Given the description of an element on the screen output the (x, y) to click on. 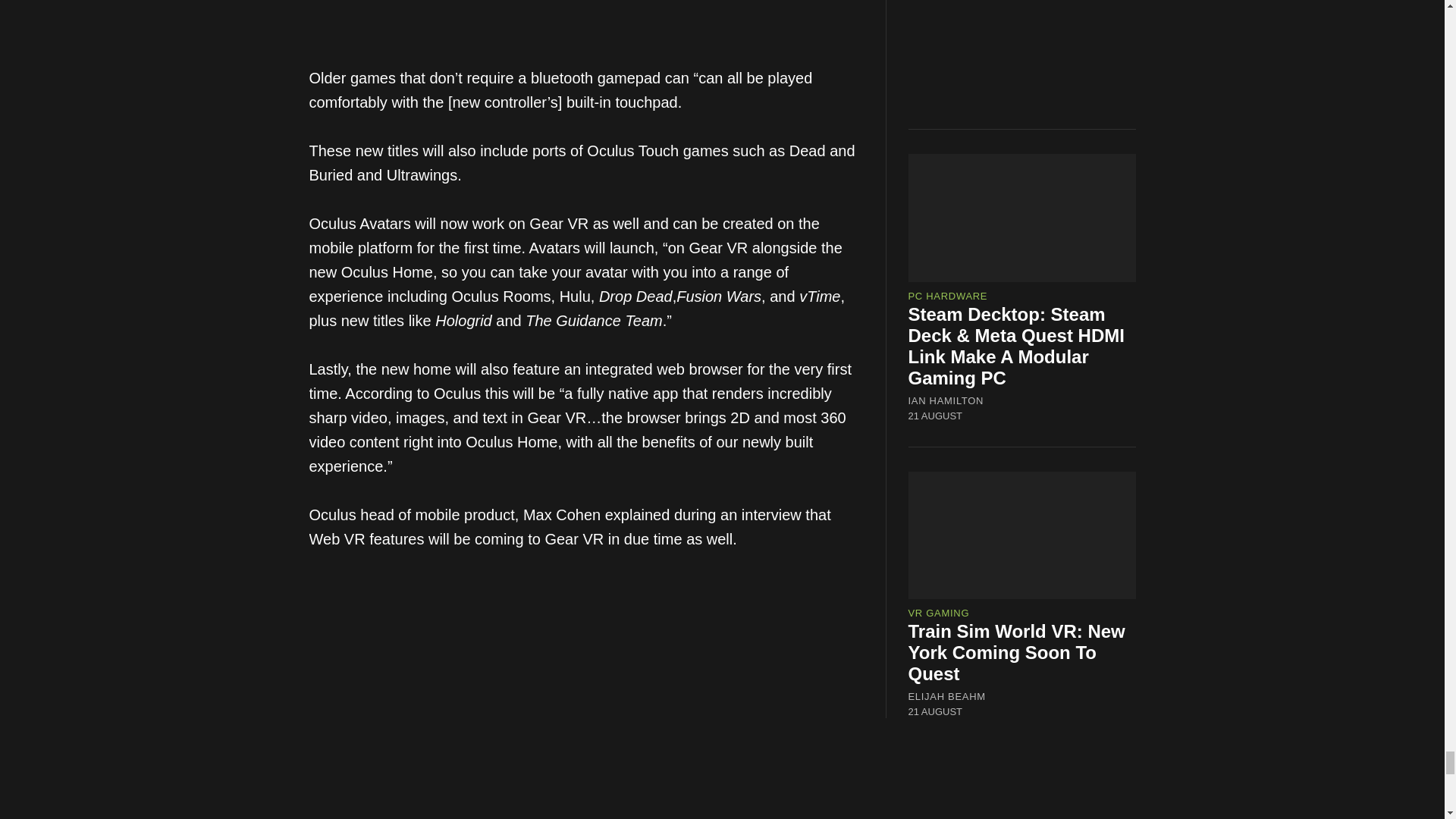
Train Sim World VR: New York Coming Soon To Quest (1016, 651)
IAN HAMILTON (946, 399)
VR GAMING (938, 613)
ELIJAH BEAHM (946, 696)
PC HARDWARE (948, 295)
